Given the description of an element on the screen output the (x, y) to click on. 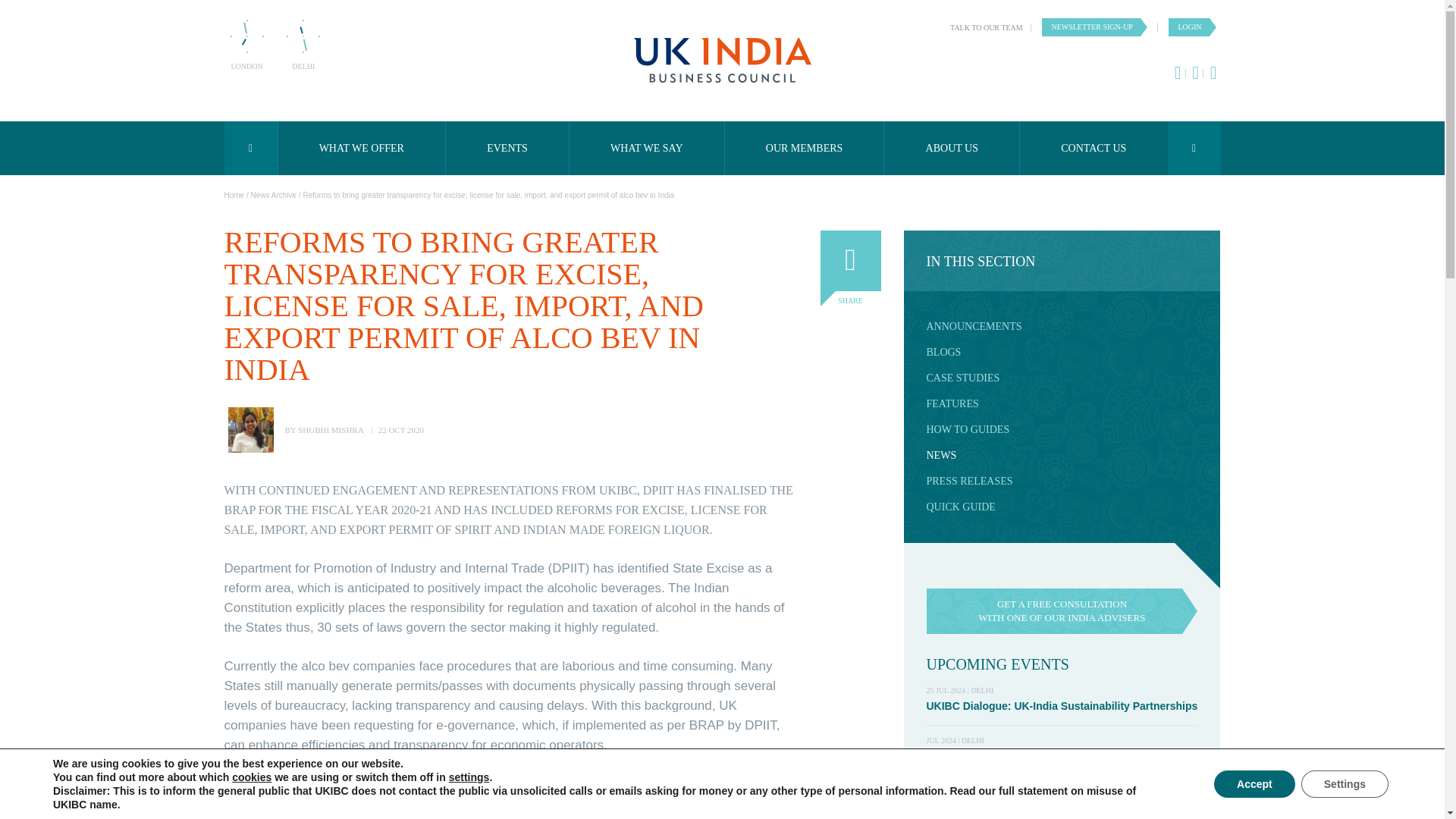
Created with Snap (246, 35)
Created with Snap (303, 35)
